Given the description of an element on the screen output the (x, y) to click on. 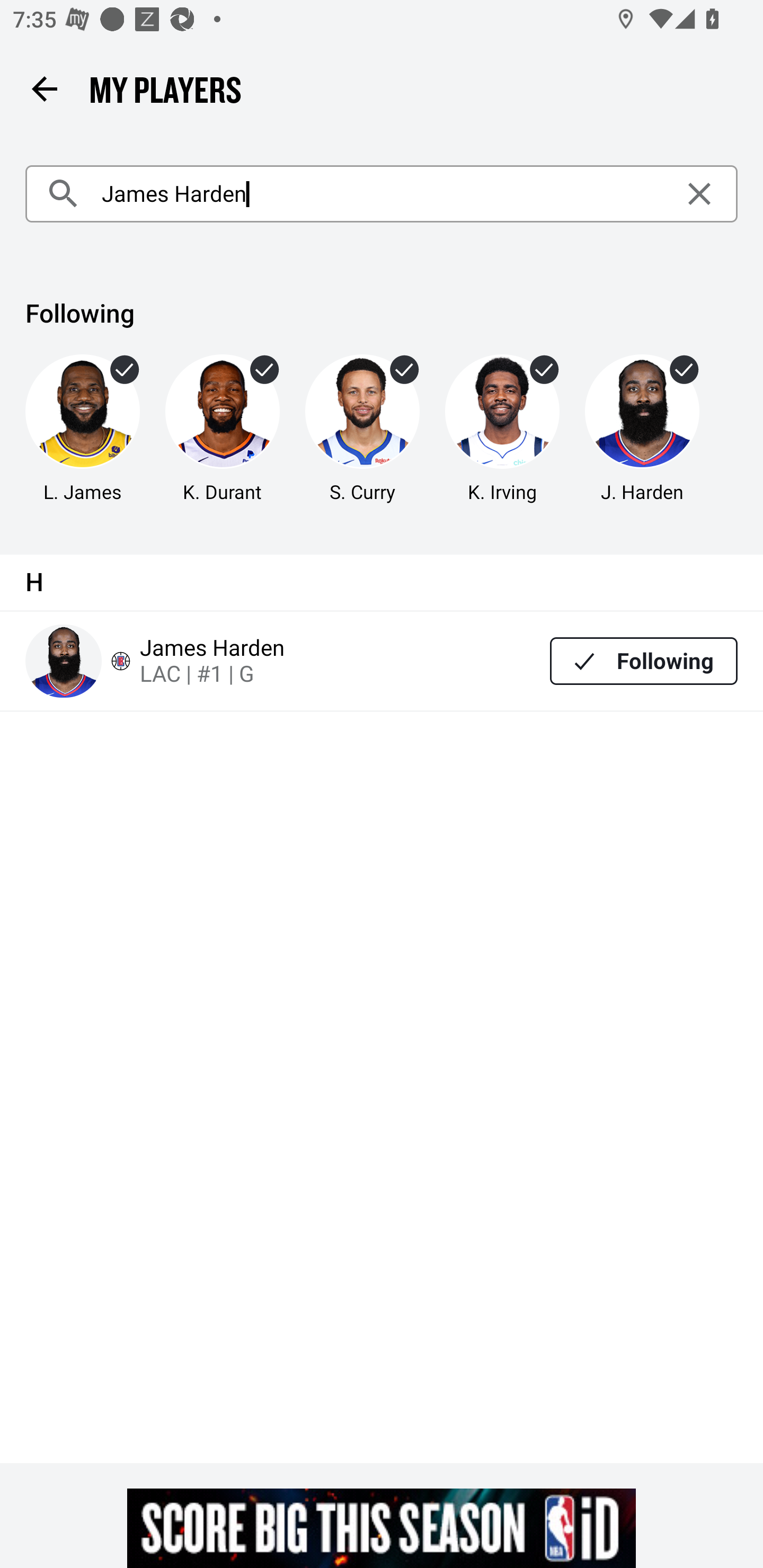
Back button (44, 88)
James Harden (381, 193)
Following (643, 660)
g5nqqygr7owph (381, 1528)
